Given the description of an element on the screen output the (x, y) to click on. 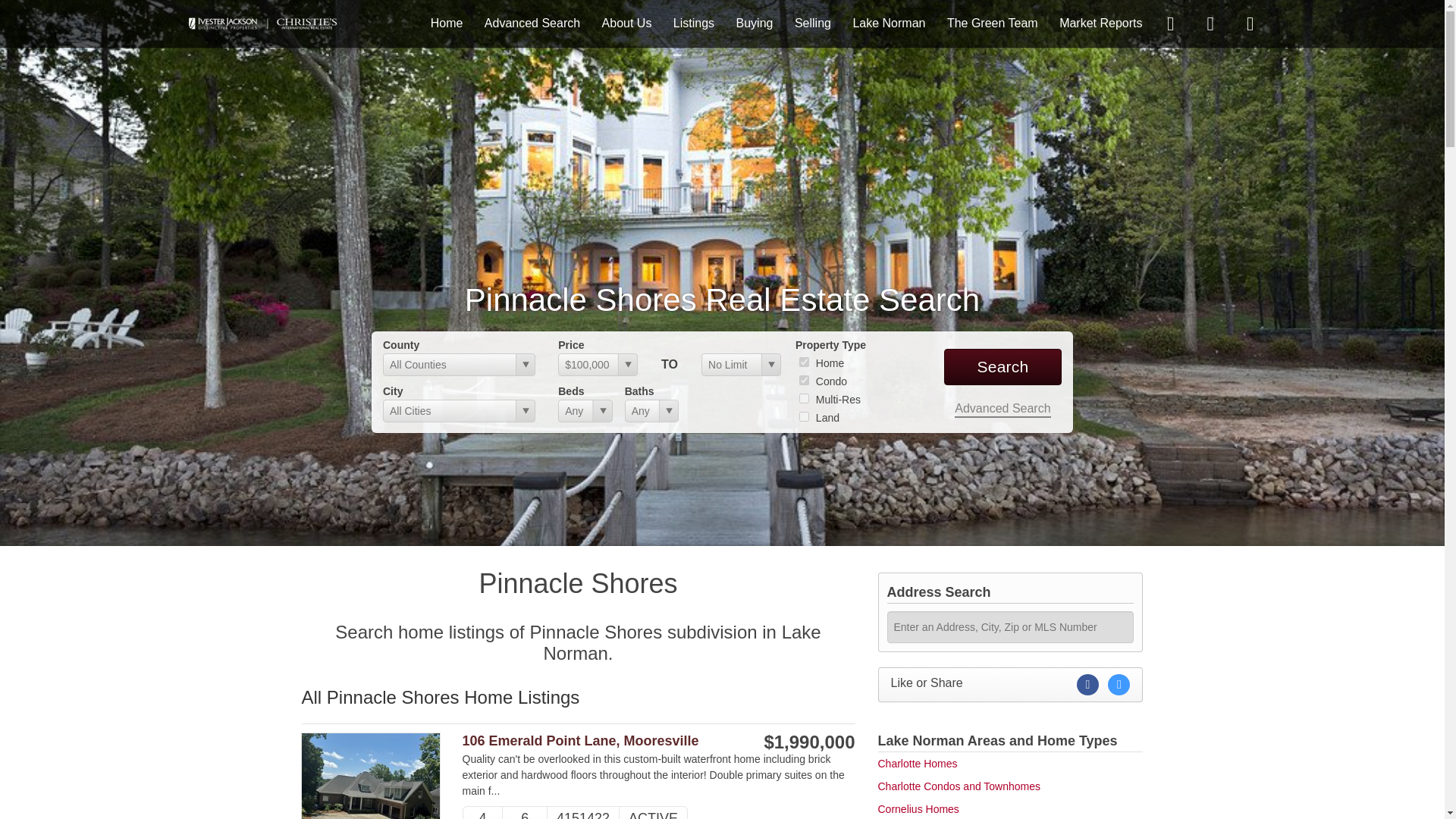
Search (1002, 366)
lnd (804, 416)
Buying (754, 22)
con (804, 379)
Selling (812, 22)
Search (1002, 366)
The Green Team (992, 22)
Advanced Search (1002, 409)
Lake Norman Homes for Sale (263, 23)
About Us (627, 22)
106 Emerald Point Lane, Mooresville (600, 741)
Lake Norman (887, 22)
res (804, 361)
Advanced Search (531, 22)
Like or Share (1009, 684)
